Given the description of an element on the screen output the (x, y) to click on. 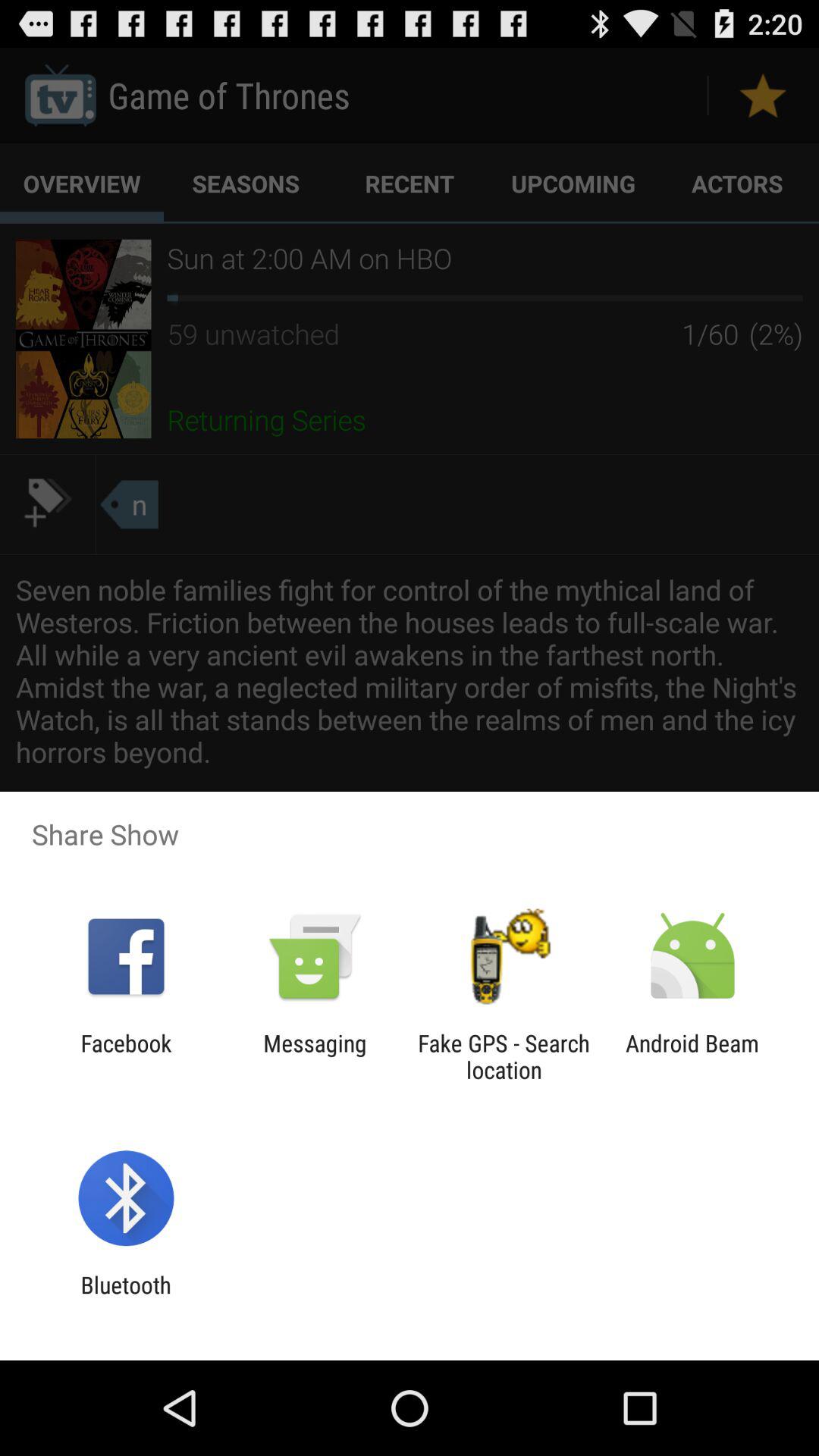
choose the icon next to the android beam (503, 1056)
